Given the description of an element on the screen output the (x, y) to click on. 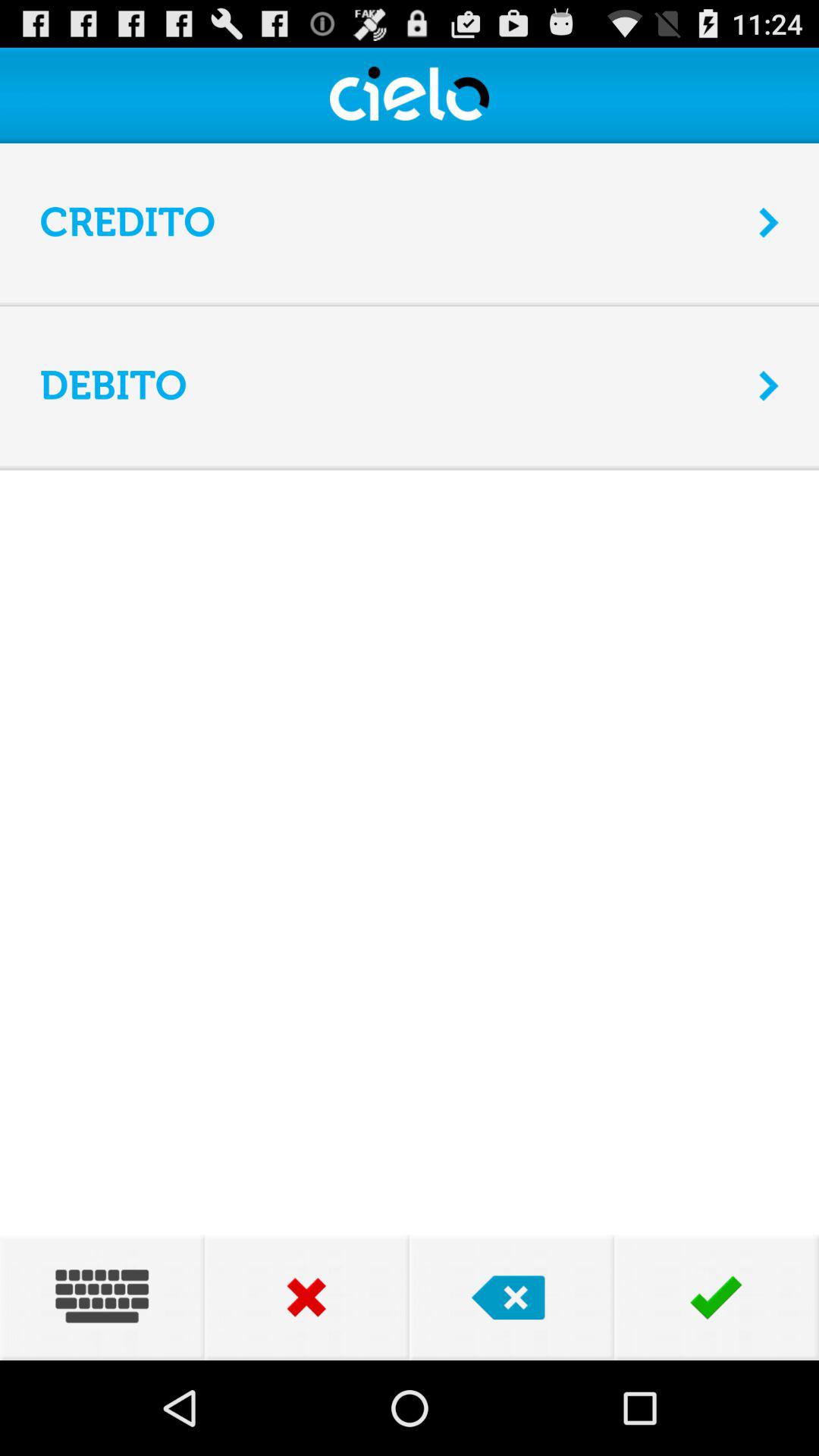
turn on the item below the credito item (409, 303)
